Given the description of an element on the screen output the (x, y) to click on. 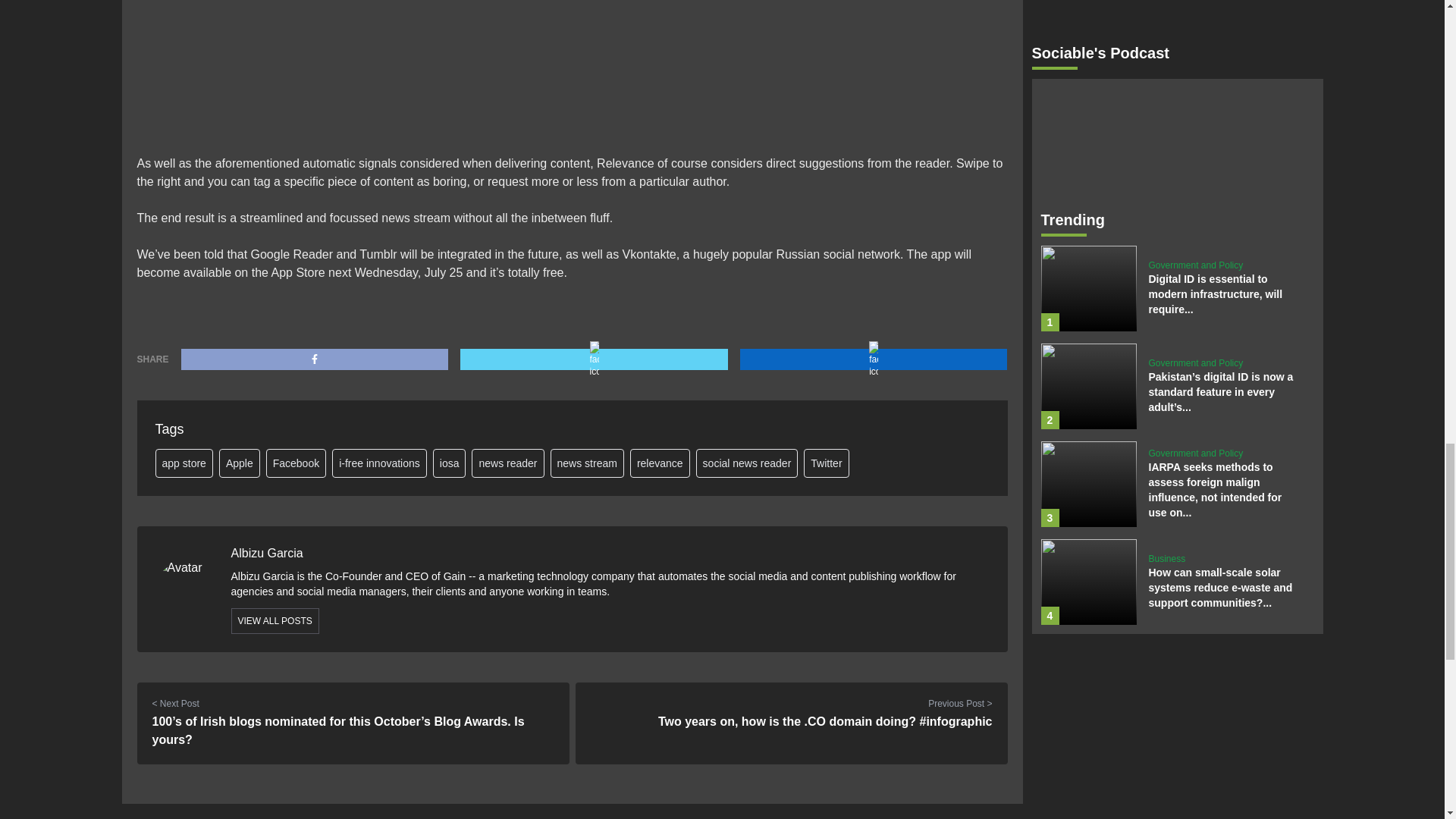
iosa (448, 462)
Apple (239, 462)
Relevance app (321, 68)
Facebook (296, 462)
app store (183, 462)
news reader (507, 462)
i-free innovations (378, 462)
